Given the description of an element on the screen output the (x, y) to click on. 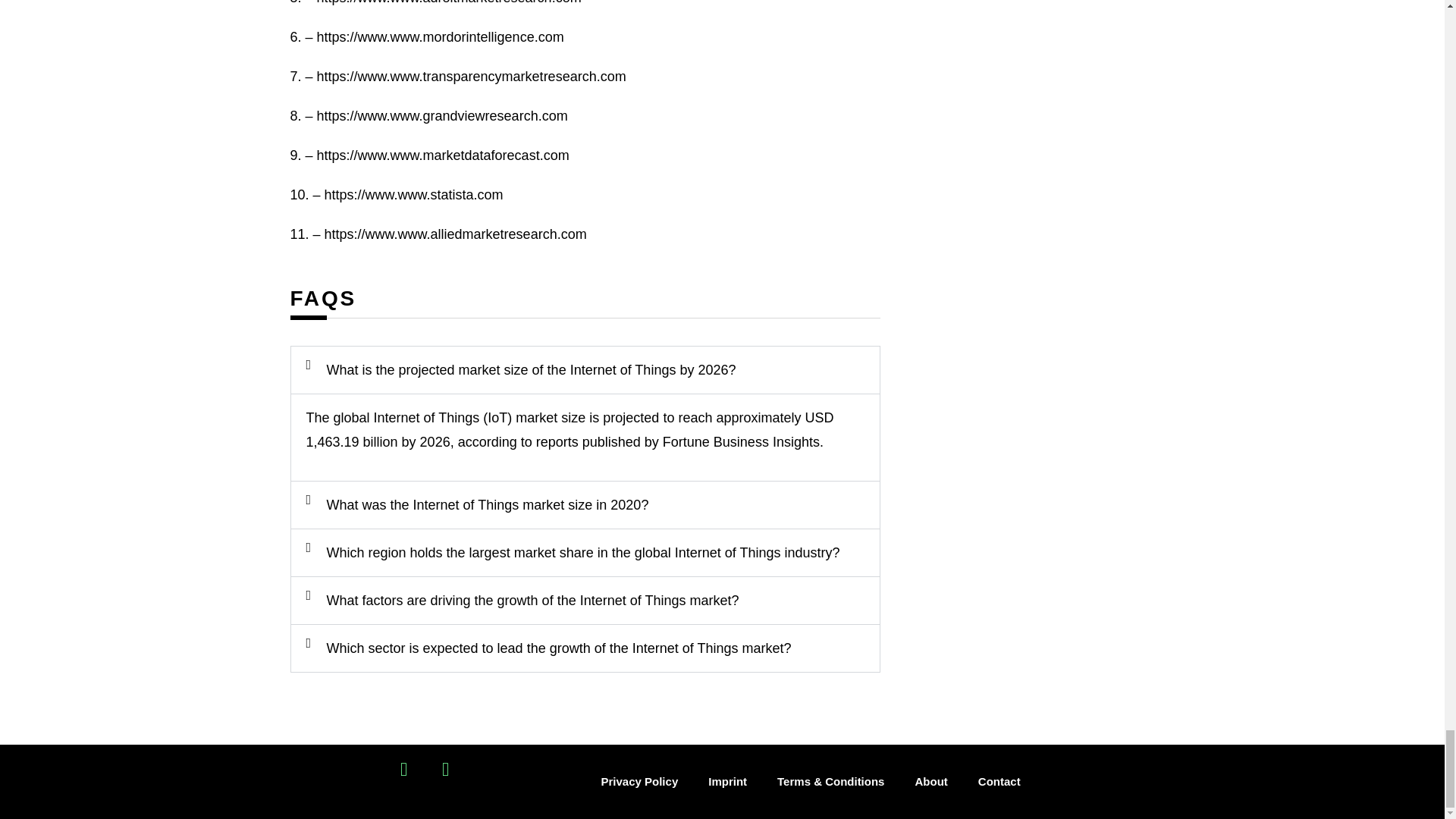
Contact (998, 781)
Imprint (727, 781)
What was the Internet of Things market size in 2020? (486, 504)
Privacy Policy (639, 781)
About (930, 781)
